Given the description of an element on the screen output the (x, y) to click on. 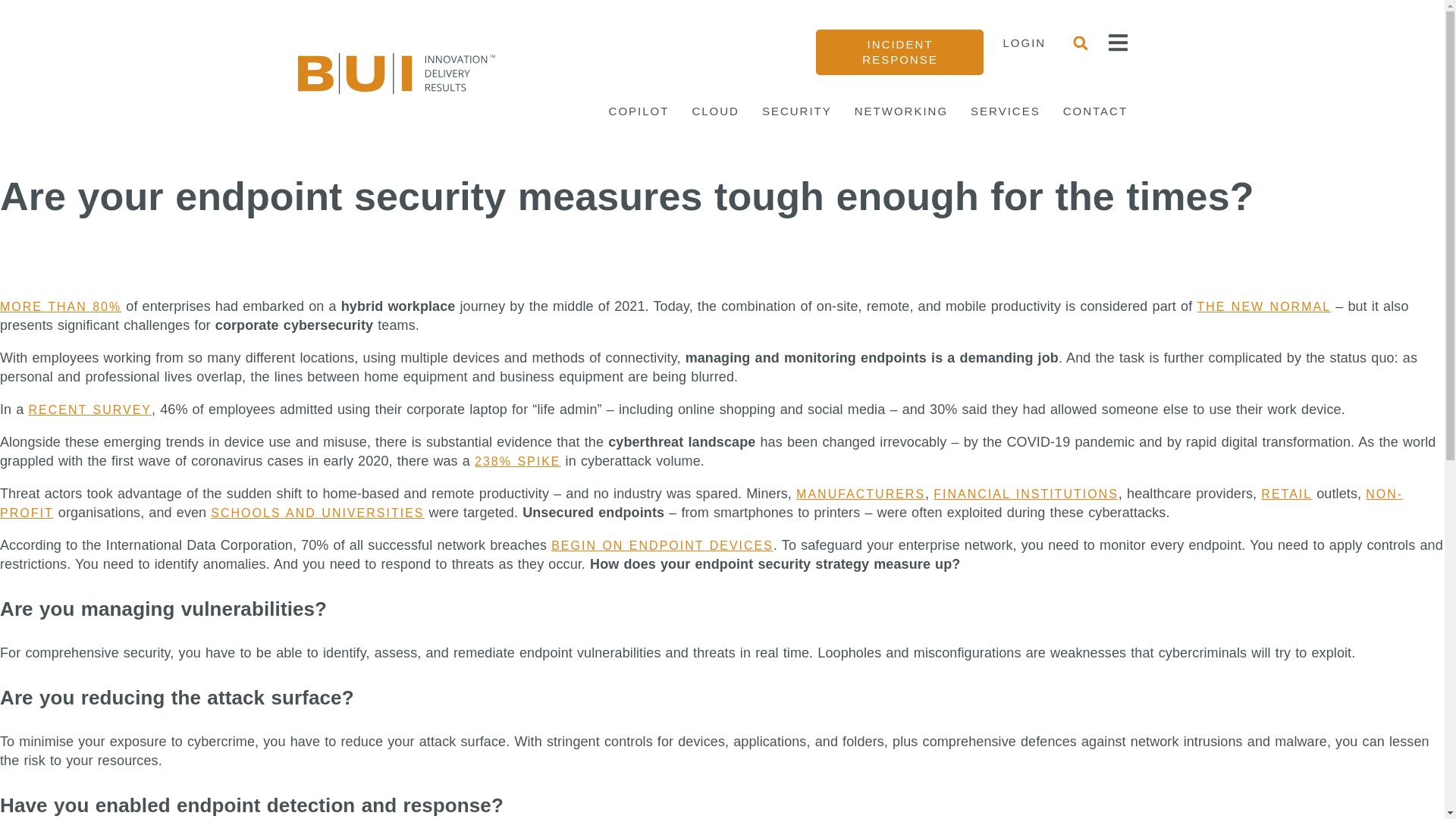
LOGIN (1024, 42)
SECURITY (796, 111)
CONTACT (1094, 111)
NETWORKING (900, 111)
CLOUD (715, 111)
SERVICES (1006, 111)
COPILOT (638, 111)
INCIDENT RESPONSE (899, 52)
